Given the description of an element on the screen output the (x, y) to click on. 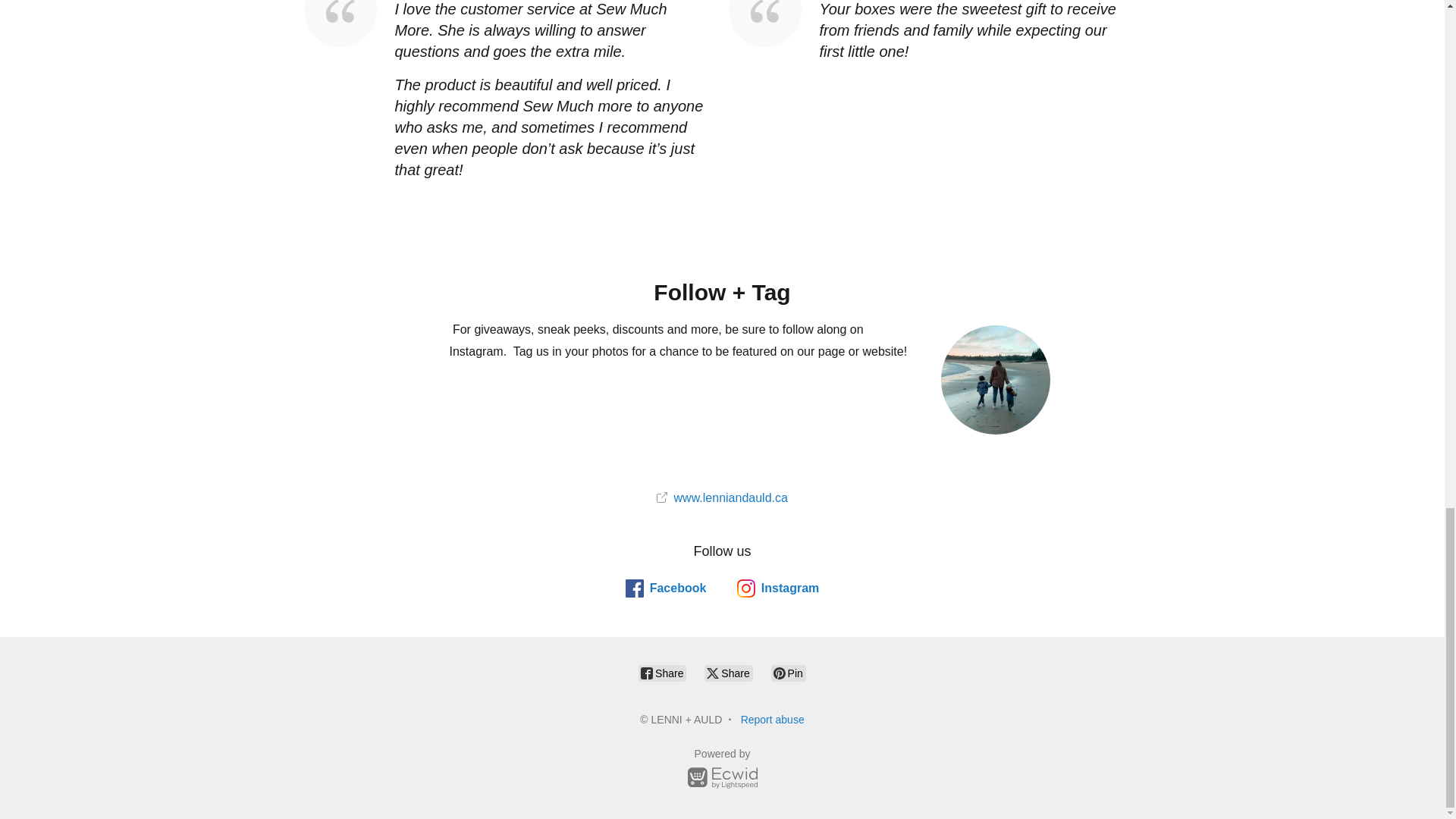
www.lenniandauld.ca (721, 497)
Report abuse (773, 719)
Instagram (777, 588)
Powered by (722, 770)
Share (662, 673)
Pin (788, 673)
Facebook (666, 588)
Share (728, 673)
